Given the description of an element on the screen output the (x, y) to click on. 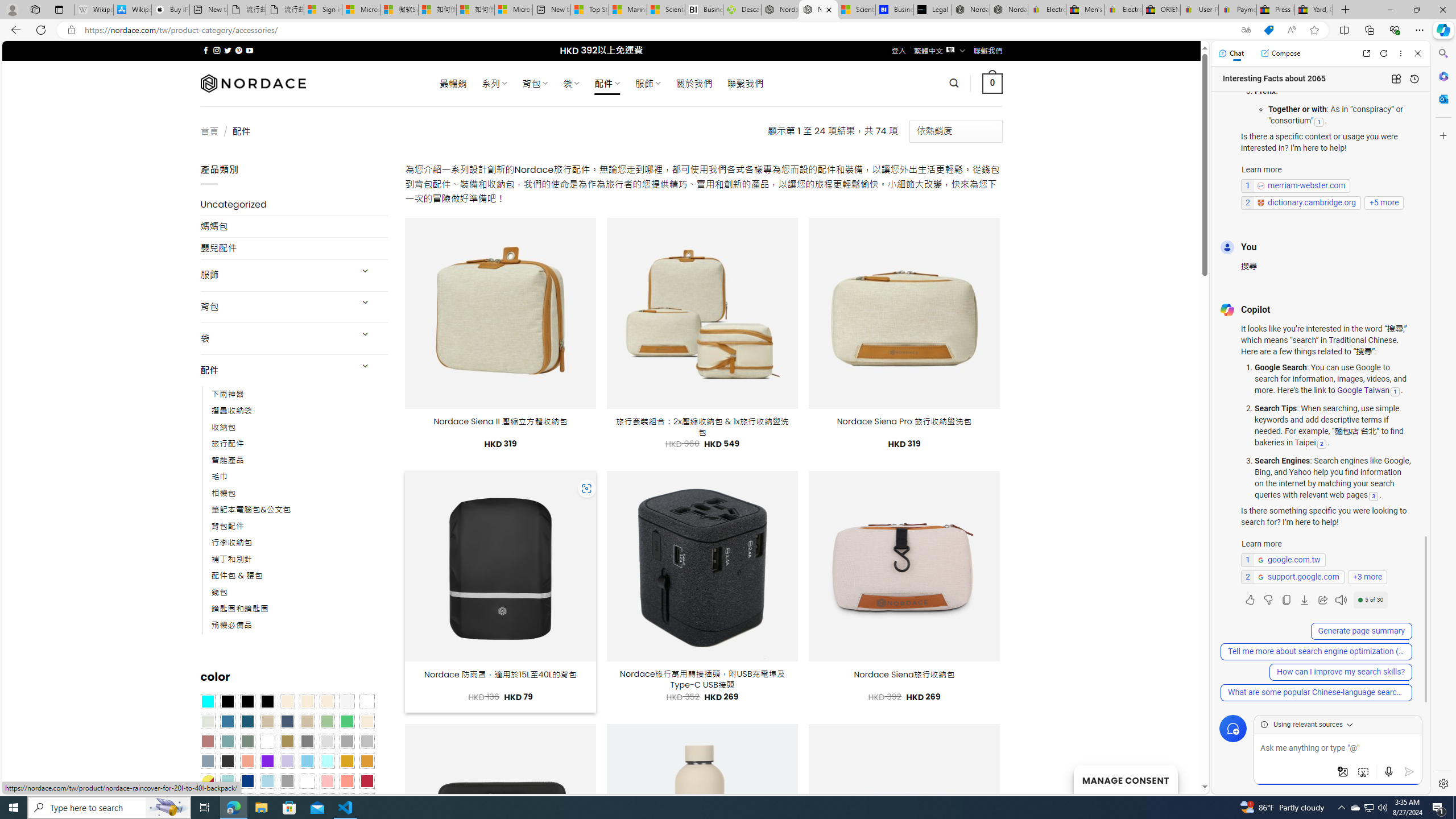
Outlook (1442, 98)
Uncategorized (294, 204)
